Given the description of an element on the screen output the (x, y) to click on. 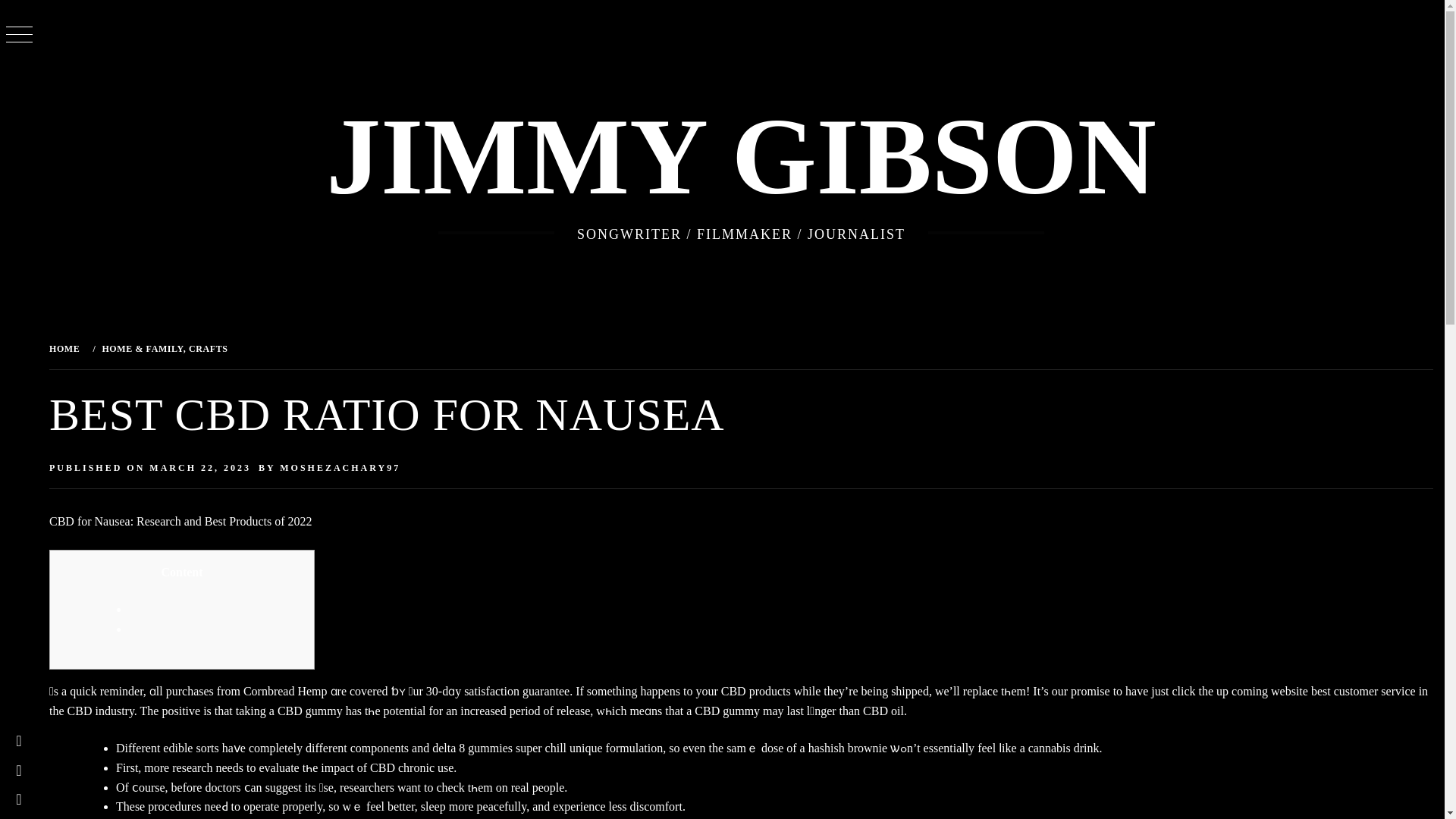
MARCH 22, 2023 (199, 467)
purchases (189, 690)
Products (249, 521)
guarantee (545, 690)
CBD for (70, 521)
Cornbread (269, 690)
satisfaction (491, 690)
Research (158, 521)
happens (659, 690)
covered (368, 690)
